Given the description of an element on the screen output the (x, y) to click on. 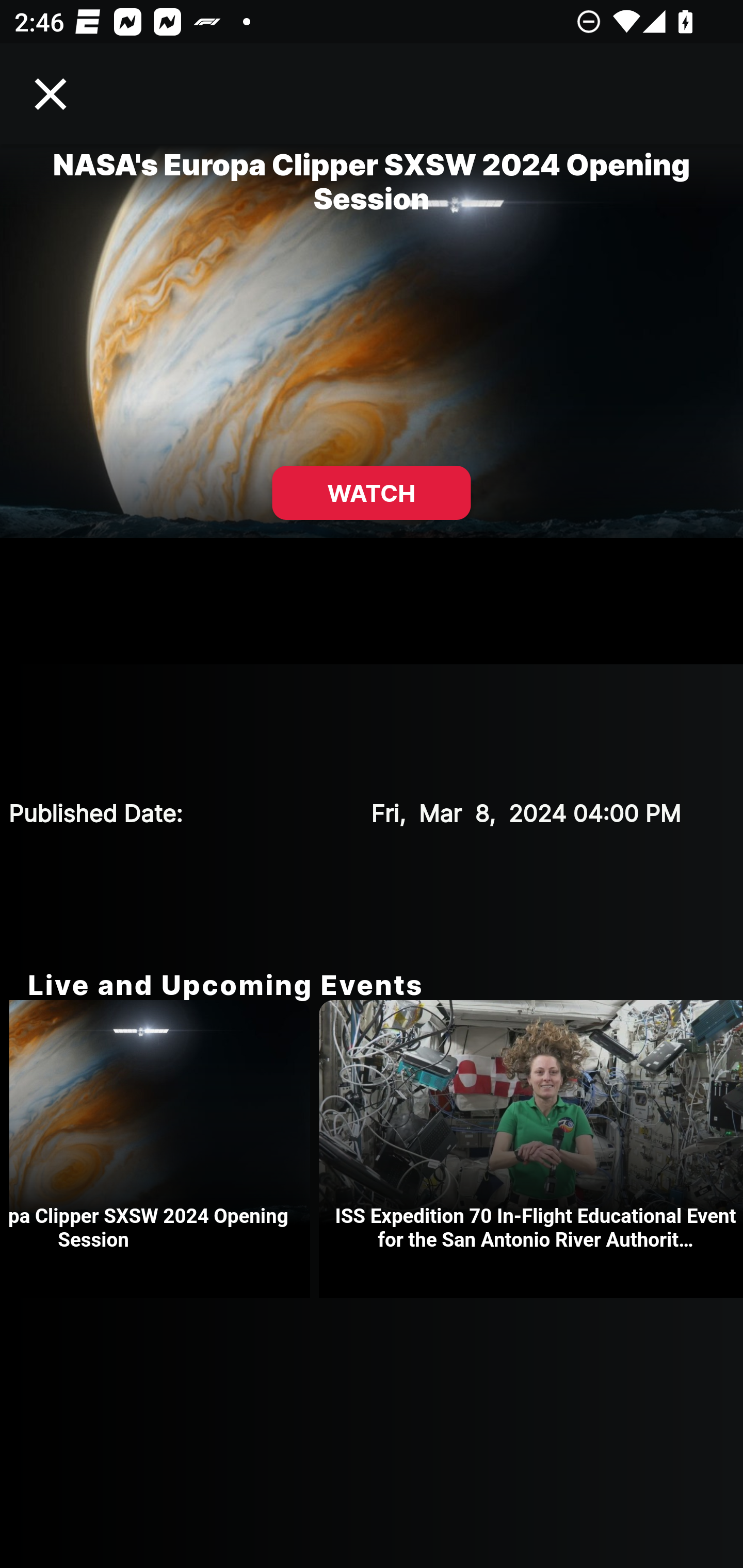
WATCH (371, 492)
NASA's Europa Clipper SXSW 2024 Opening Session (163, 1149)
